Given the description of an element on the screen output the (x, y) to click on. 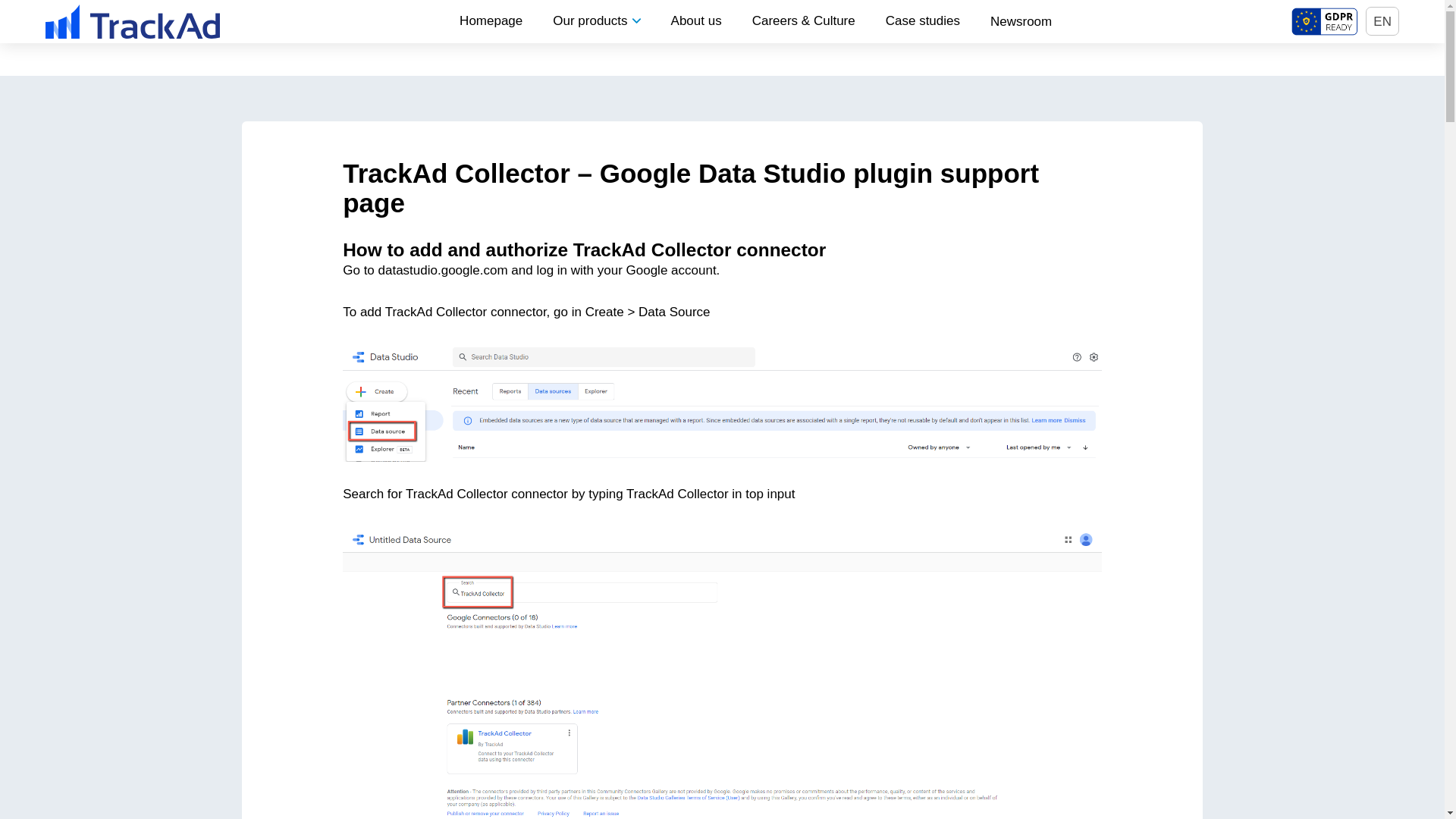
About us (696, 20)
Back to Home (132, 20)
Newsroom (1021, 20)
Homepage (490, 20)
Case studies (922, 20)
EN (1382, 21)
Our products (596, 20)
